Given the description of an element on the screen output the (x, y) to click on. 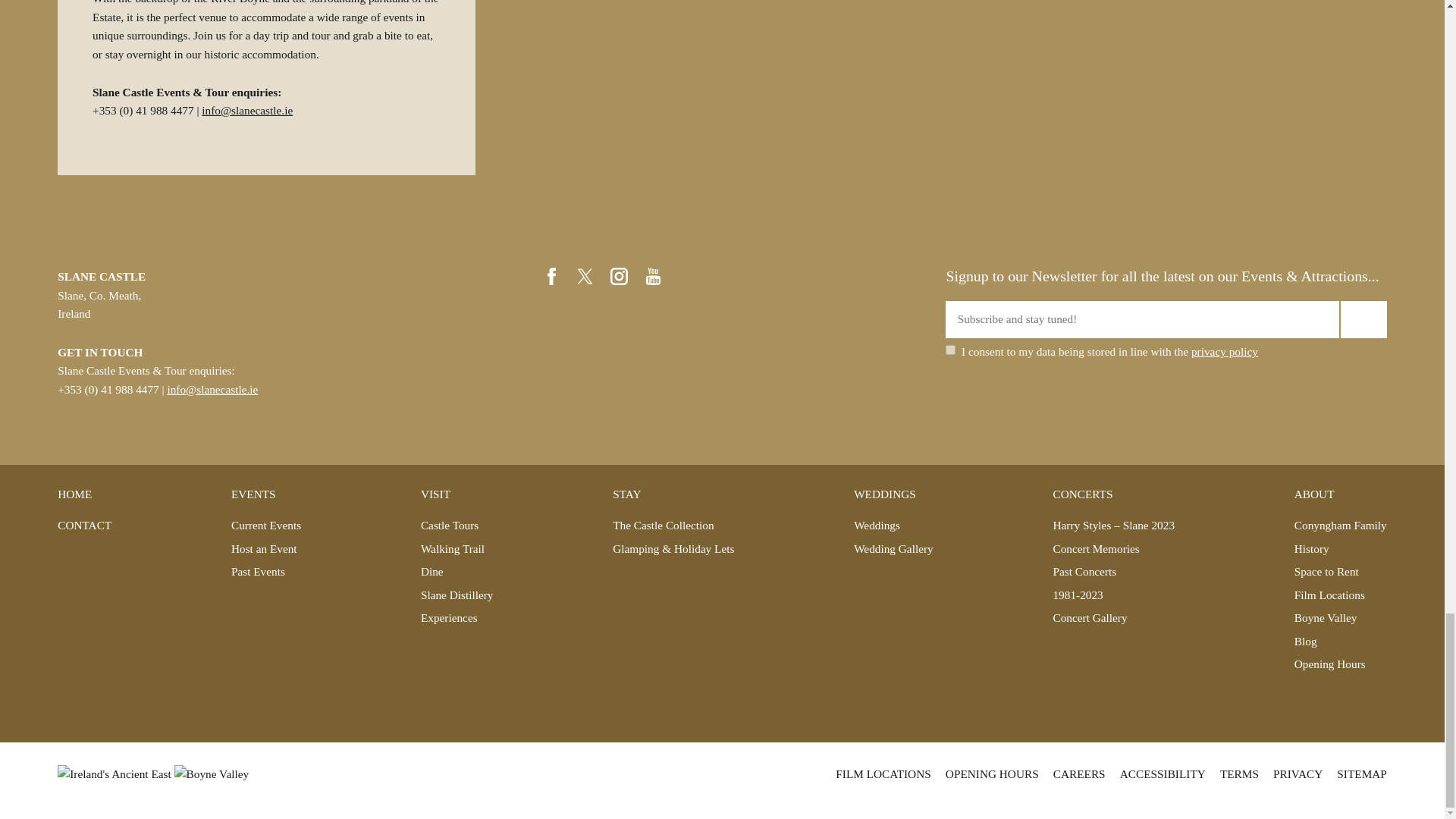
Facebook (551, 276)
YouTube (653, 276)
Y (949, 349)
Instagram (618, 276)
Subscribe (1363, 319)
Twitter (585, 276)
